Given the description of an element on the screen output the (x, y) to click on. 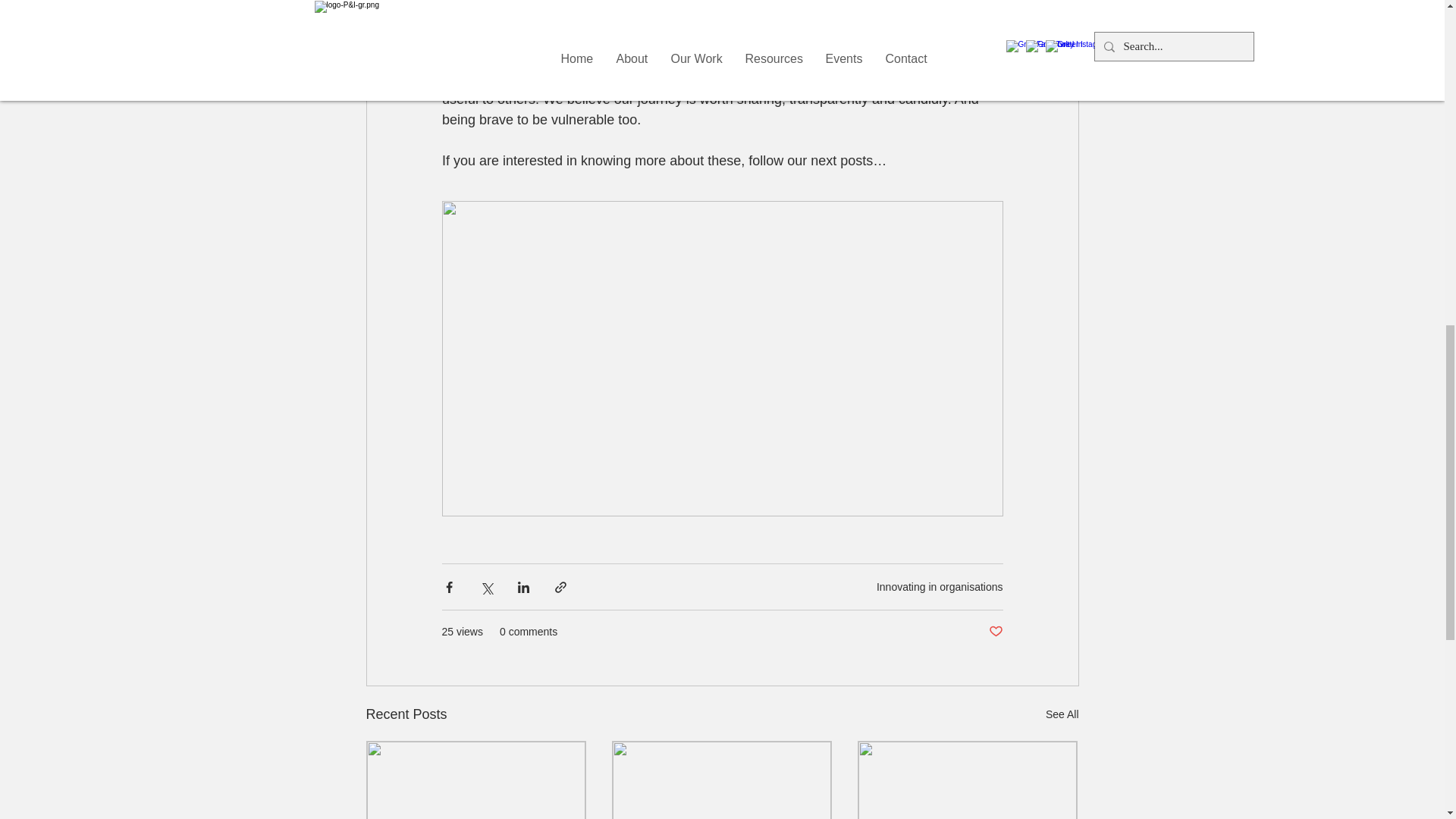
See All (1061, 714)
Post not marked as liked (995, 631)
Innovating in organisations (939, 586)
